Given the description of an element on the screen output the (x, y) to click on. 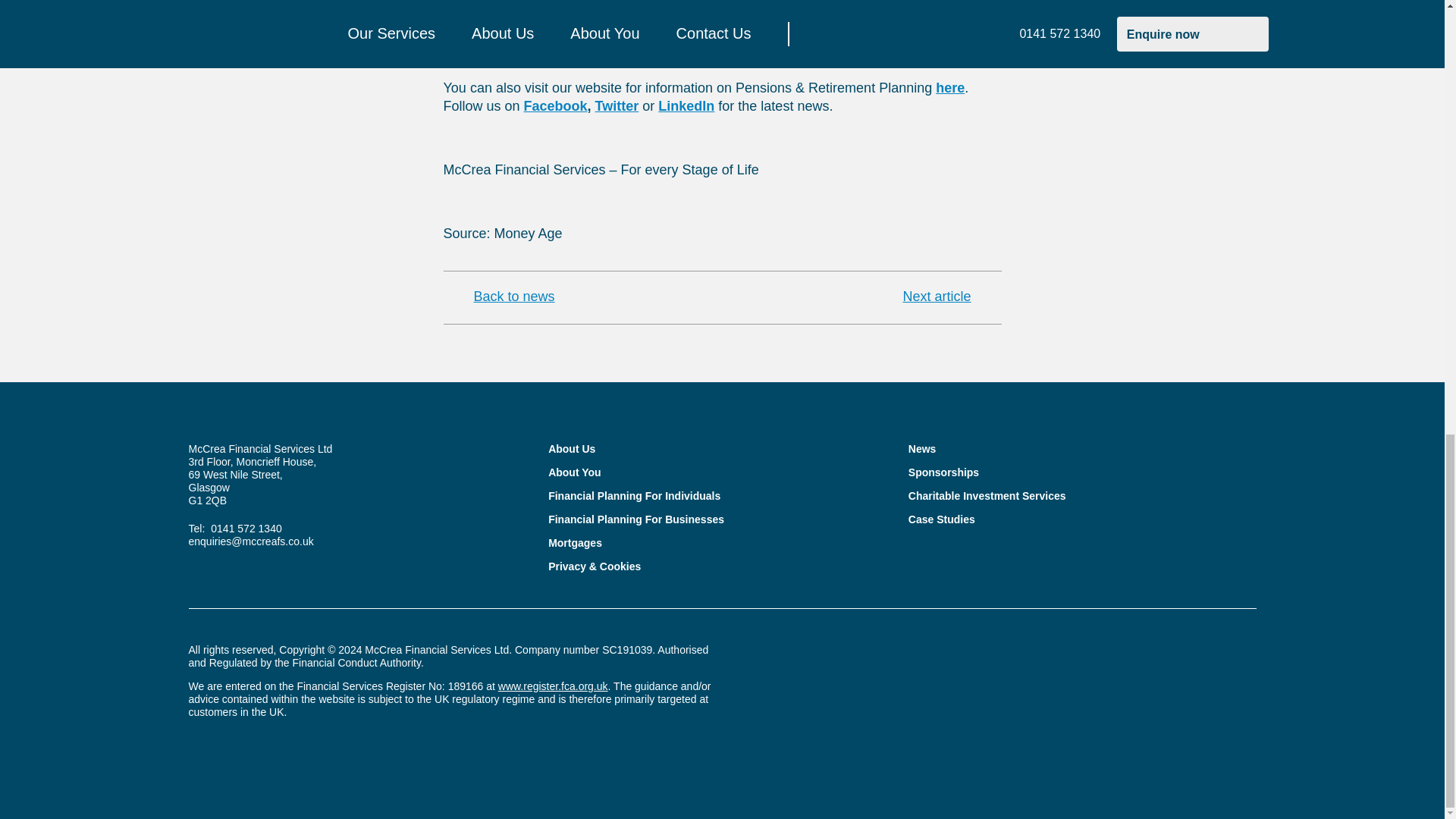
Facebook (556, 105)
LinkedIn (686, 105)
here (949, 87)
Twitter (617, 105)
